Given the description of an element on the screen output the (x, y) to click on. 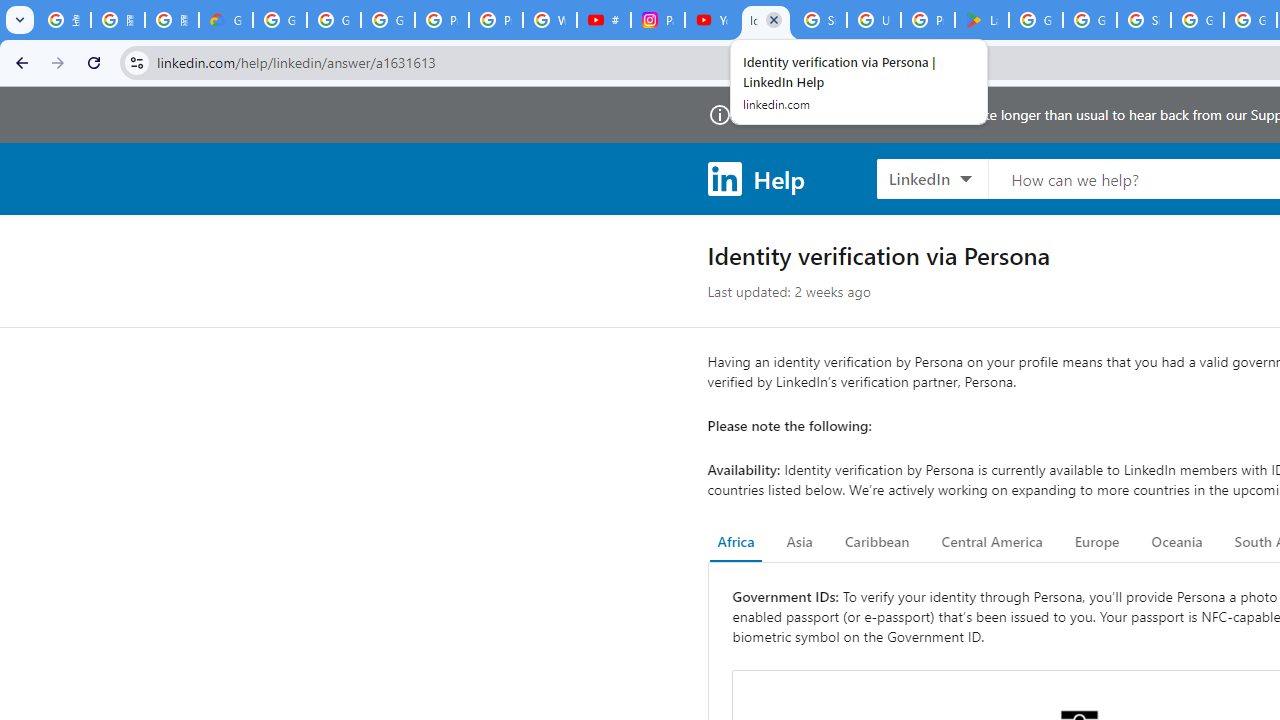
Sign in - Google Accounts (819, 20)
Back (19, 62)
Asia (799, 542)
System (10, 11)
Reload (93, 62)
#nbabasketballhighlights - YouTube (604, 20)
Close (774, 19)
Google Workspace - Specific Terms (1089, 20)
